Given the description of an element on the screen output the (x, y) to click on. 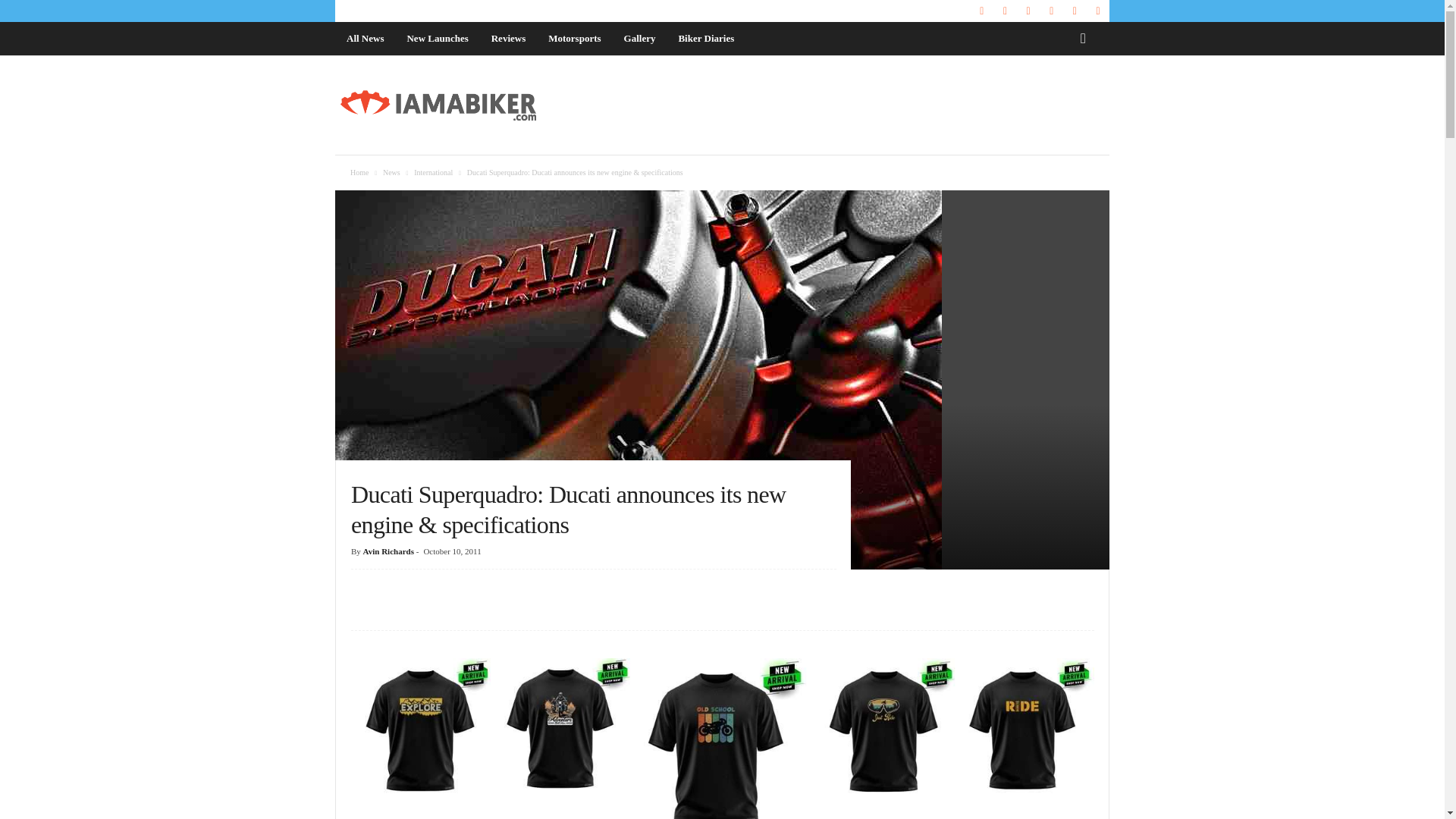
All News (364, 38)
CONTACT US (441, 10)
KNOW THE TEAM (370, 10)
TERMS AND CONDITIONS (658, 10)
